Given the description of an element on the screen output the (x, y) to click on. 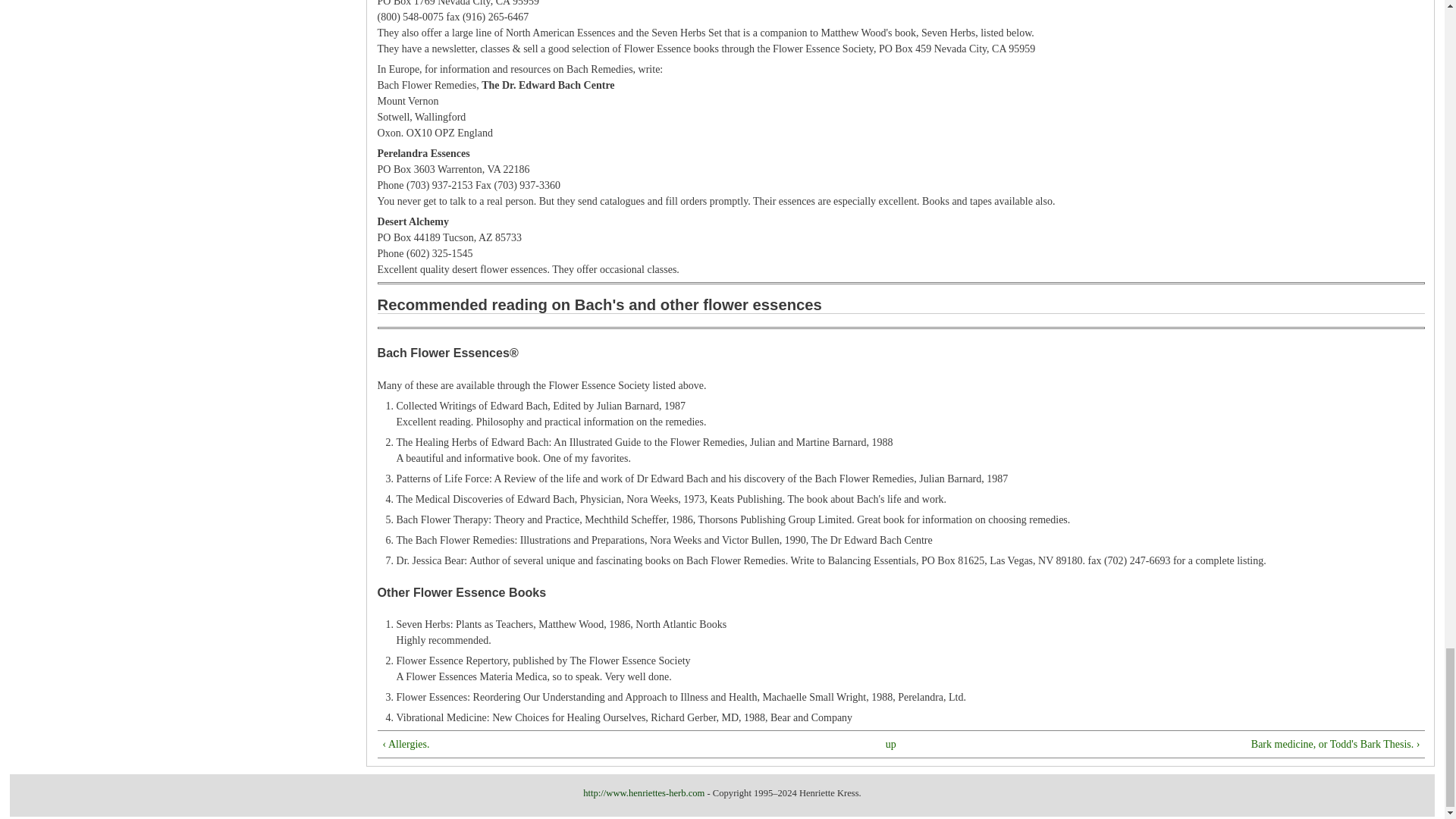
Go to parent page (890, 744)
Go to previous page (600, 744)
Go to next page (1202, 744)
up (890, 744)
